Given the description of an element on the screen output the (x, y) to click on. 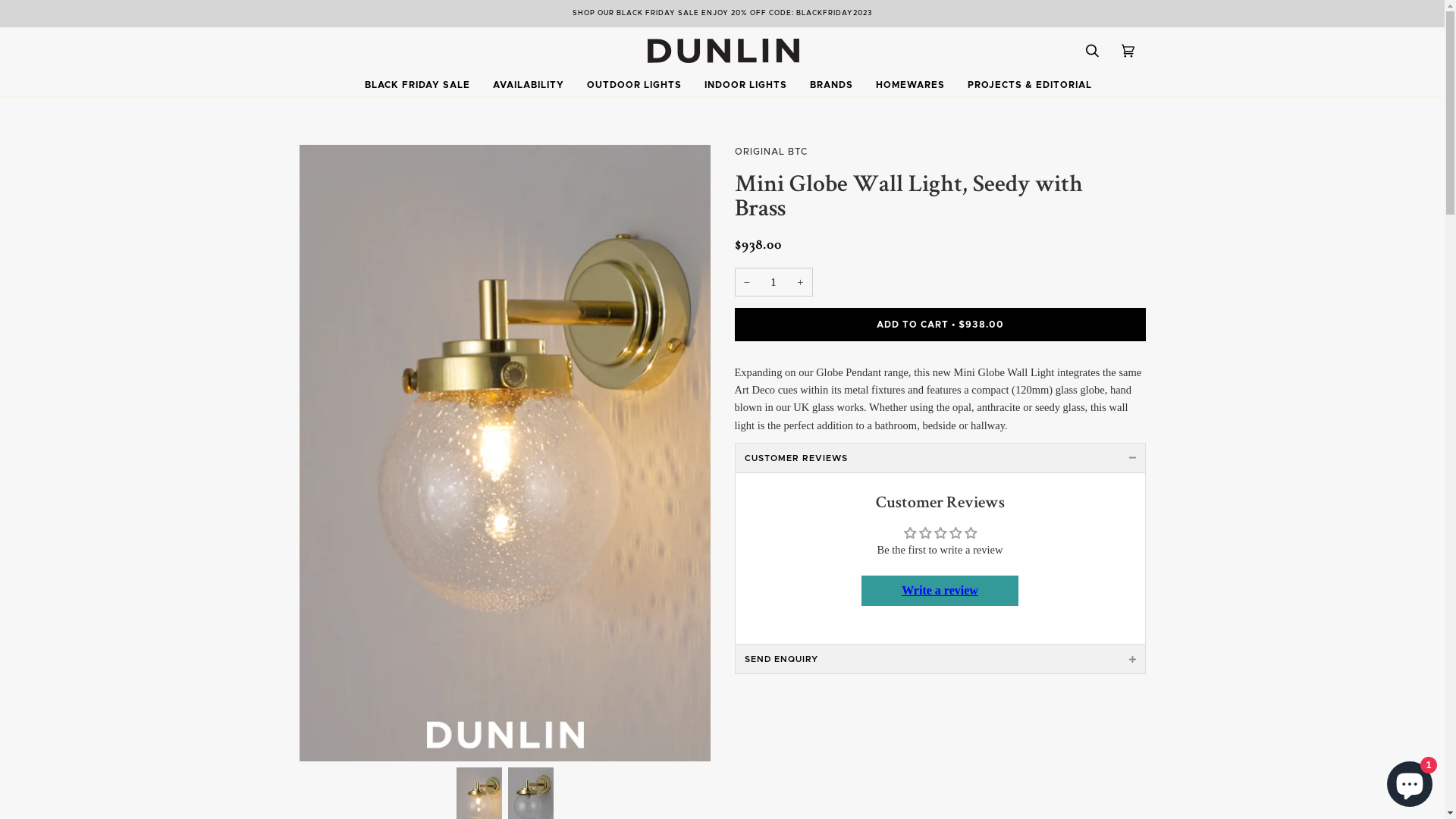
BLACK FRIDAY SALE Element type: text (417, 85)
Write a review Element type: text (939, 590)
Shopify online store chat Element type: hover (1409, 780)
+ Element type: text (799, 282)
PROJECTS & EDITORIAL Element type: text (1028, 85)
BRANDS Element type: text (830, 85)
Search Element type: text (1091, 50)
OUTDOOR LIGHTS Element type: text (633, 85)
INDOOR LIGHTS Element type: text (745, 85)
AVAILABILITY Element type: text (527, 85)
HOMEWARES Element type: text (910, 85)
Cart
(0) Element type: text (1127, 50)
ORIGINAL BTC Element type: text (939, 151)
